Given the description of an element on the screen output the (x, y) to click on. 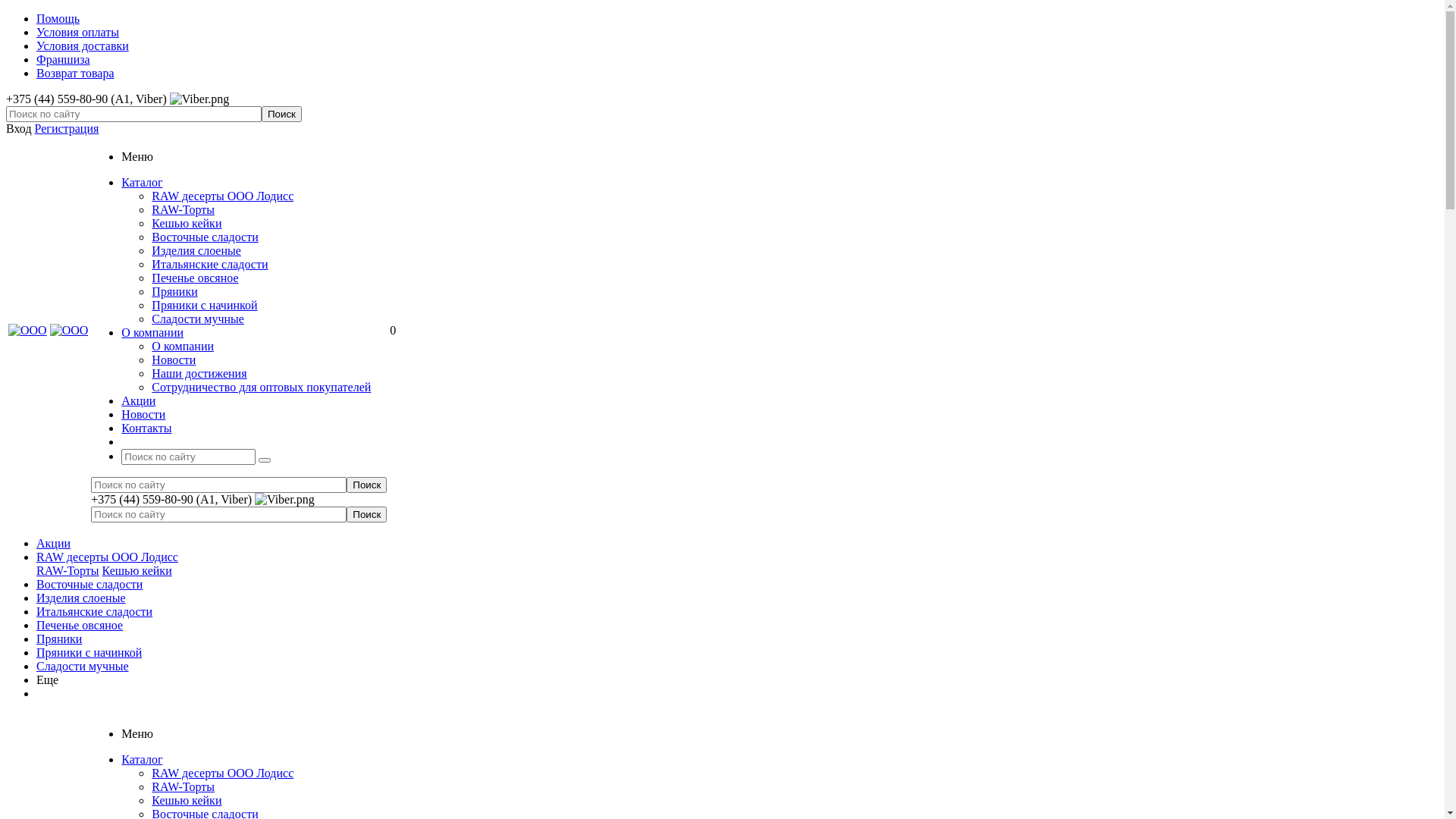
Viber.png Element type: hover (284, 499)
Viber.png Element type: hover (199, 99)
